Given the description of an element on the screen output the (x, y) to click on. 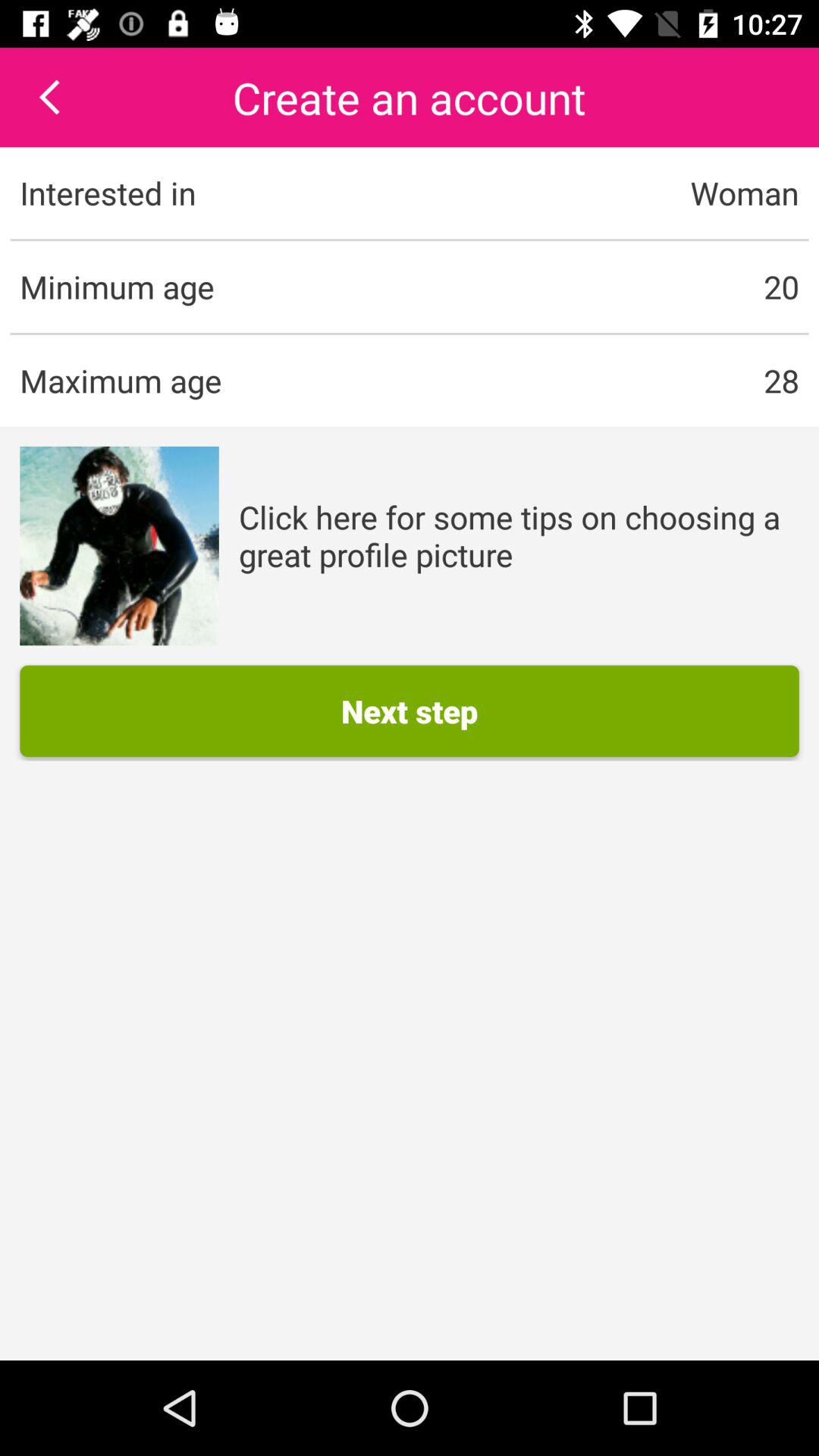
turn off the app below 28 item (518, 535)
